Given the description of an element on the screen output the (x, y) to click on. 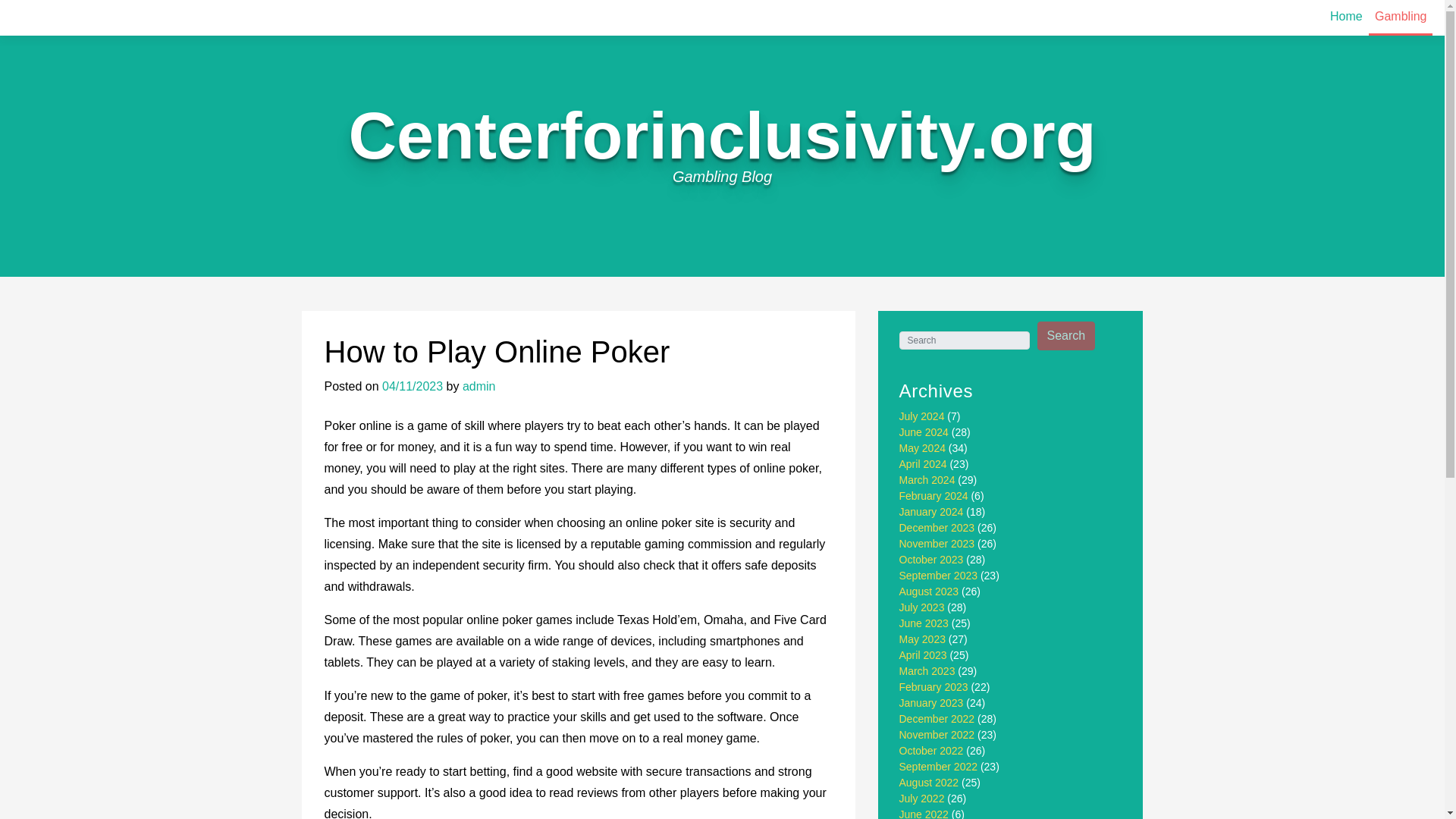
Search (1066, 335)
September 2022 (938, 766)
June 2023 (924, 623)
Gambling (1400, 18)
May 2023 (921, 639)
March 2024 (927, 480)
August 2022 (929, 782)
December 2022 (937, 718)
March 2023 (927, 671)
October 2023 (931, 559)
January 2024 (931, 511)
November 2022 (937, 734)
July 2022 (921, 798)
February 2024 (933, 495)
February 2023 (933, 686)
